Given the description of an element on the screen output the (x, y) to click on. 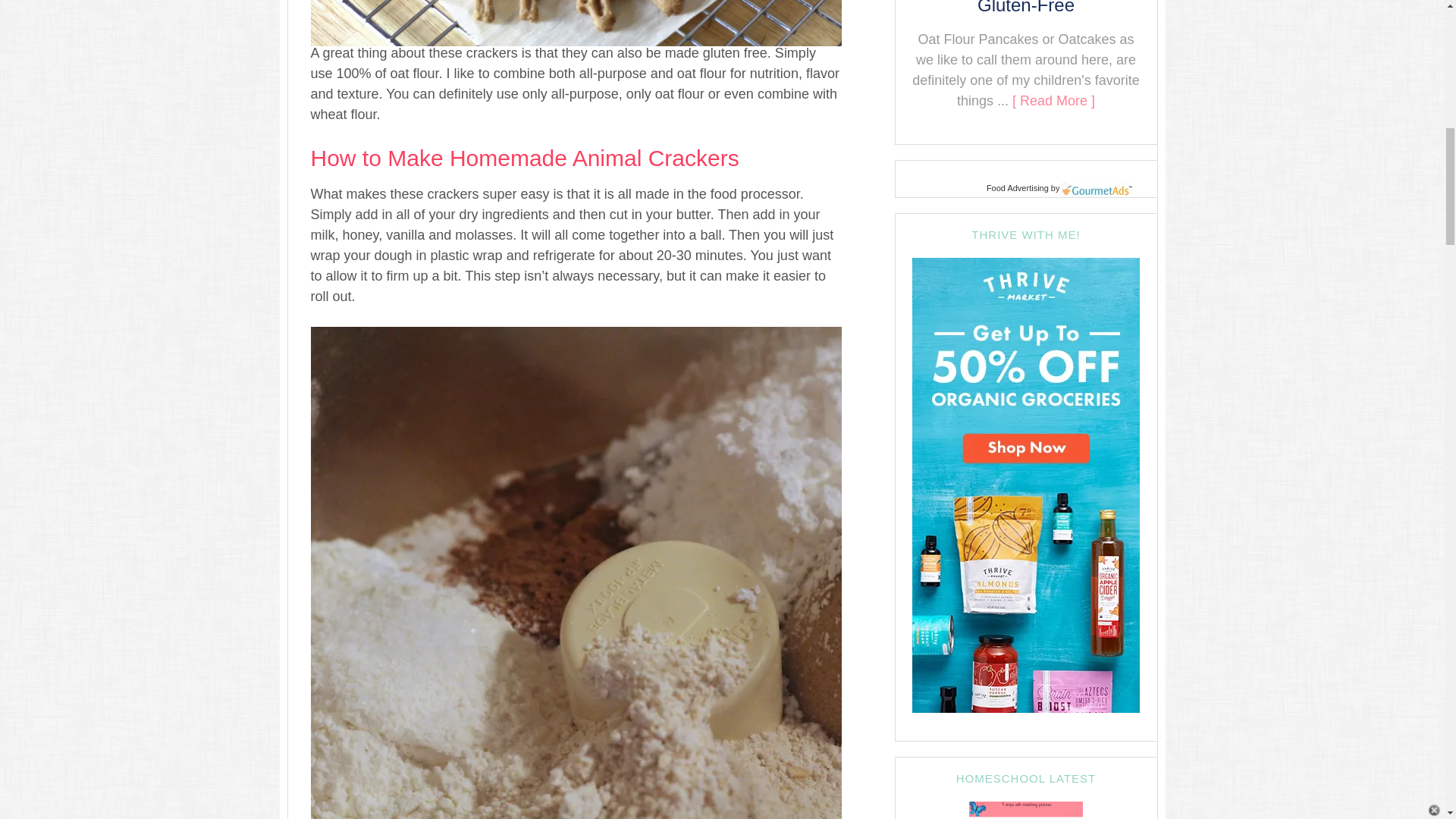
Food Advertising (1017, 187)
